Given the description of an element on the screen output the (x, y) to click on. 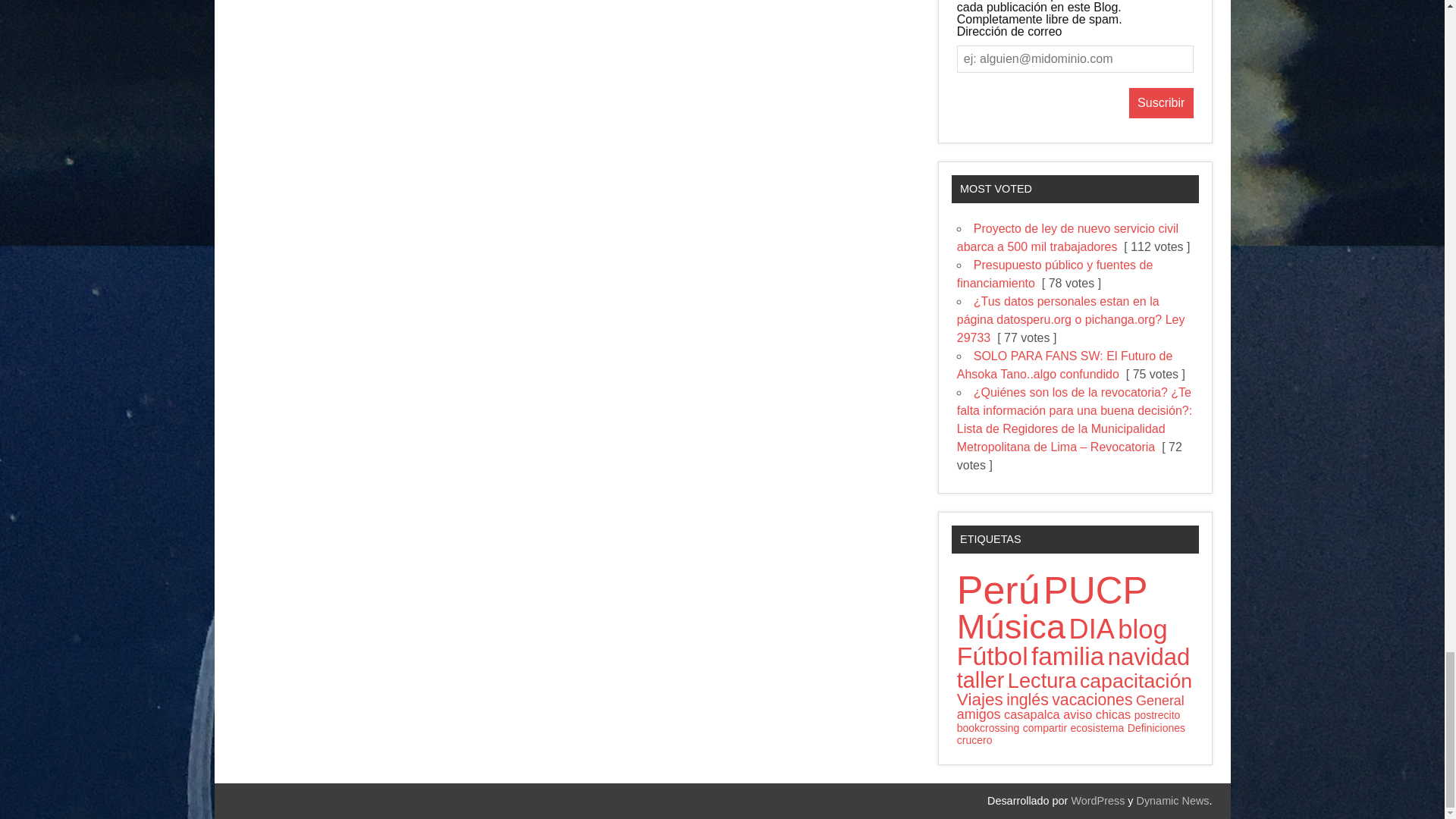
Suscribir (1161, 102)
